Given the description of an element on the screen output the (x, y) to click on. 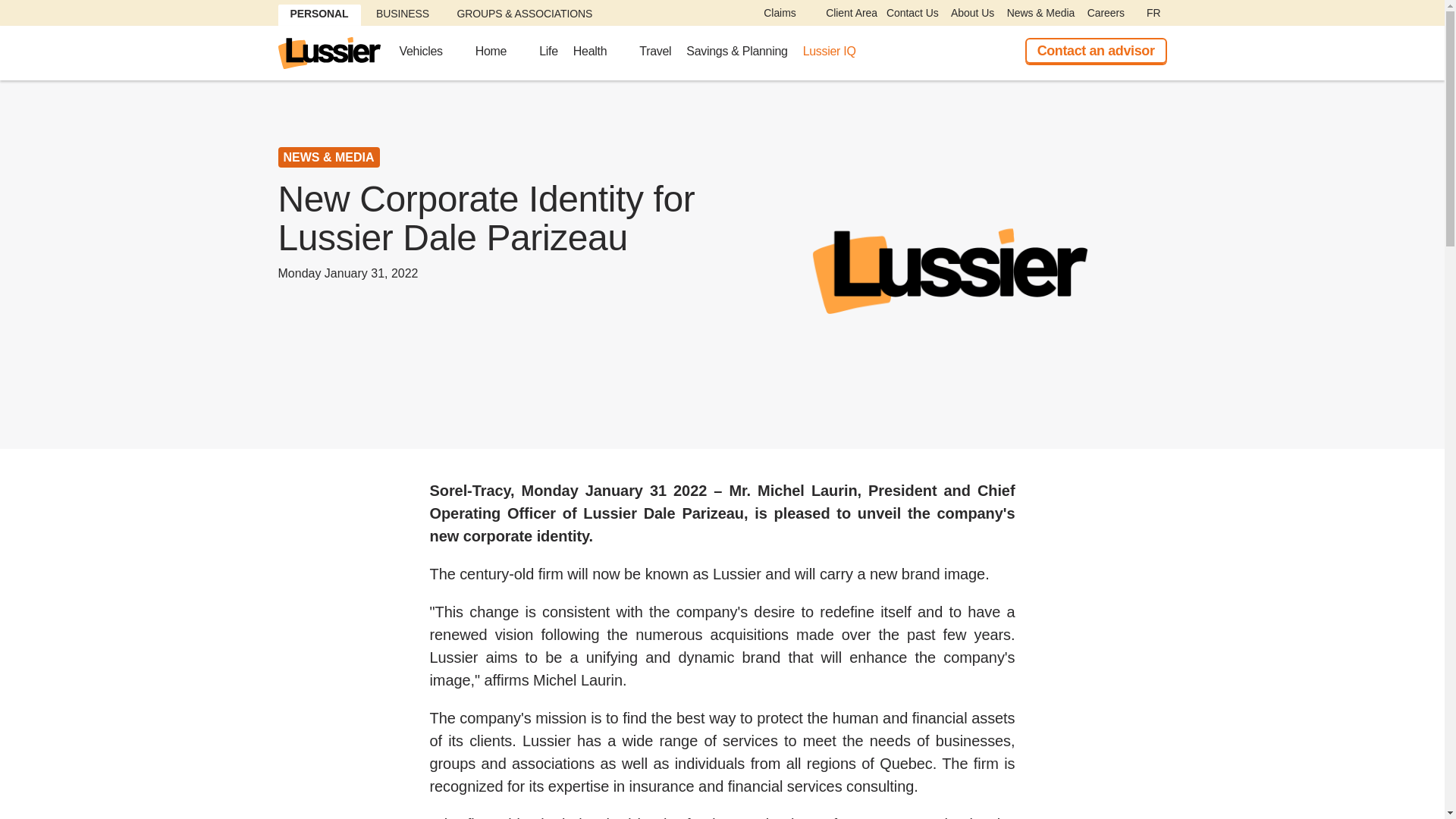
FR (1153, 12)
Health (598, 58)
Business (402, 14)
About Us (972, 12)
PERSONAL (318, 14)
About Us (972, 12)
Vehicles (429, 58)
Claims (774, 12)
Careers (1106, 12)
Travel (654, 58)
BUSINESS (402, 14)
Client Area (846, 12)
Contact Us (912, 12)
Lussier IQ (837, 58)
